Given the description of an element on the screen output the (x, y) to click on. 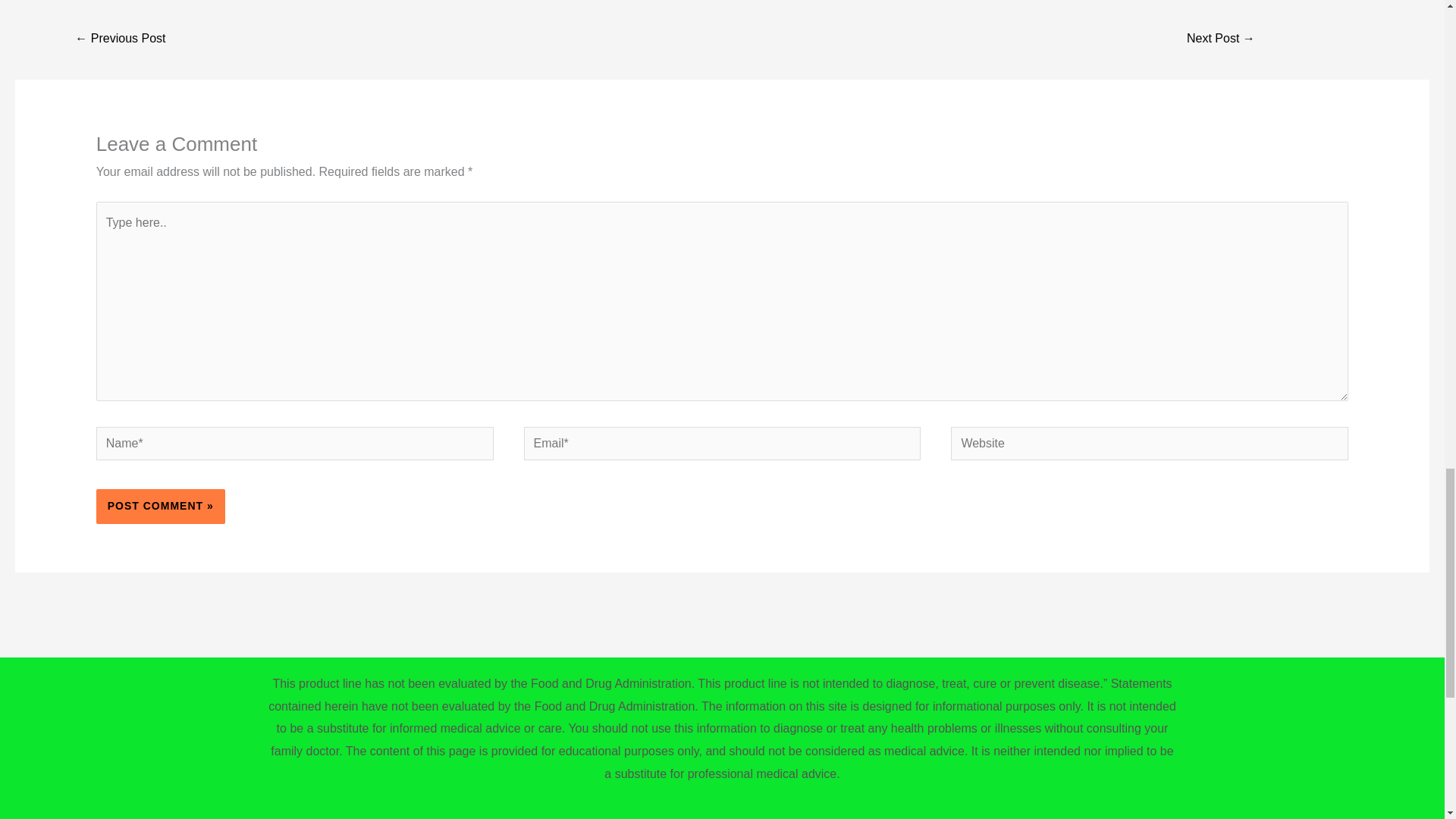
Hong Kong Tea Expo 2014 (1220, 39)
Kickstart Event in One of the World's Coolest Office (119, 39)
